Given the description of an element on the screen output the (x, y) to click on. 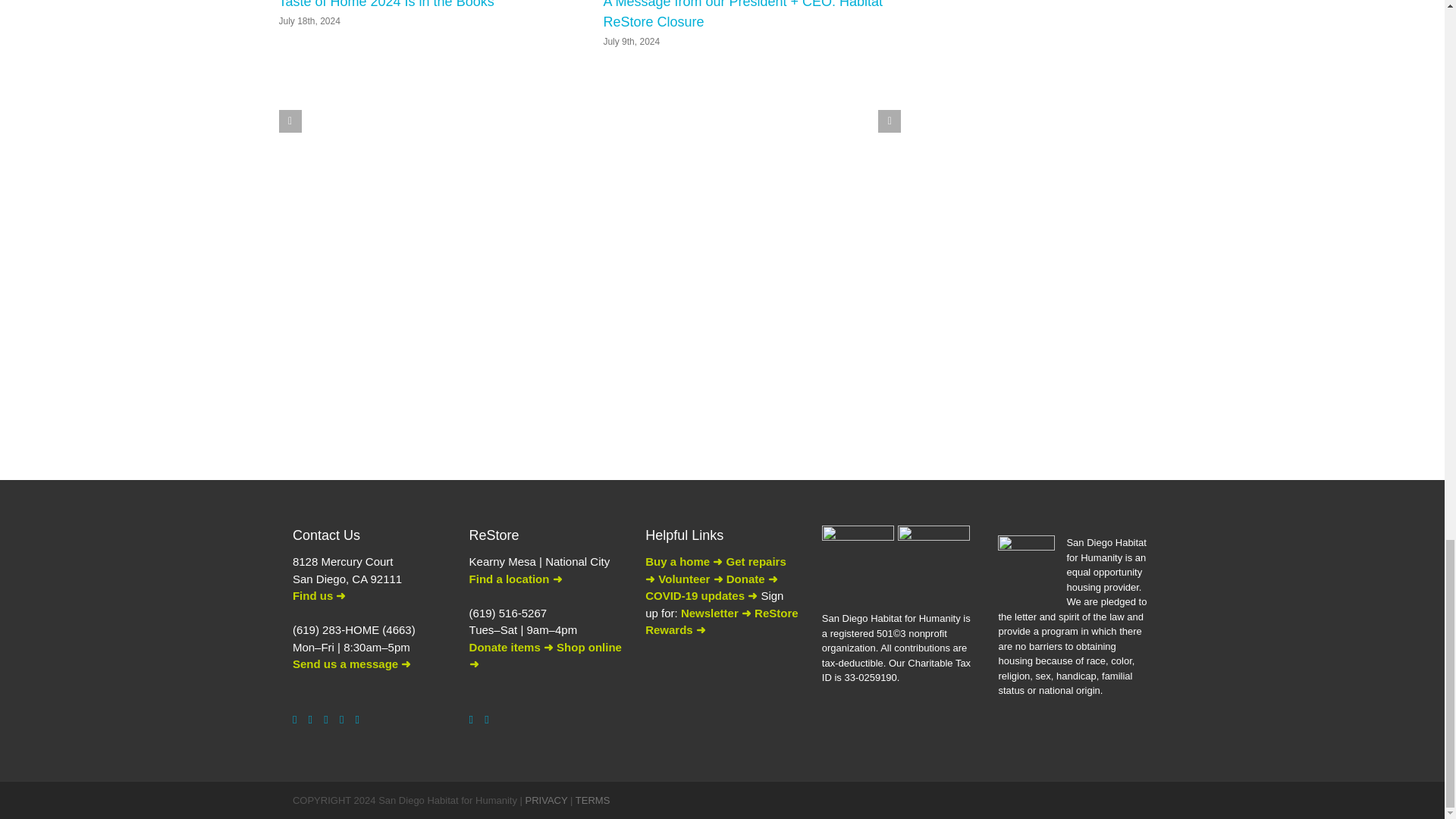
Taste of Home 2024 Is in the Books (387, 4)
